Given the description of an element on the screen output the (x, y) to click on. 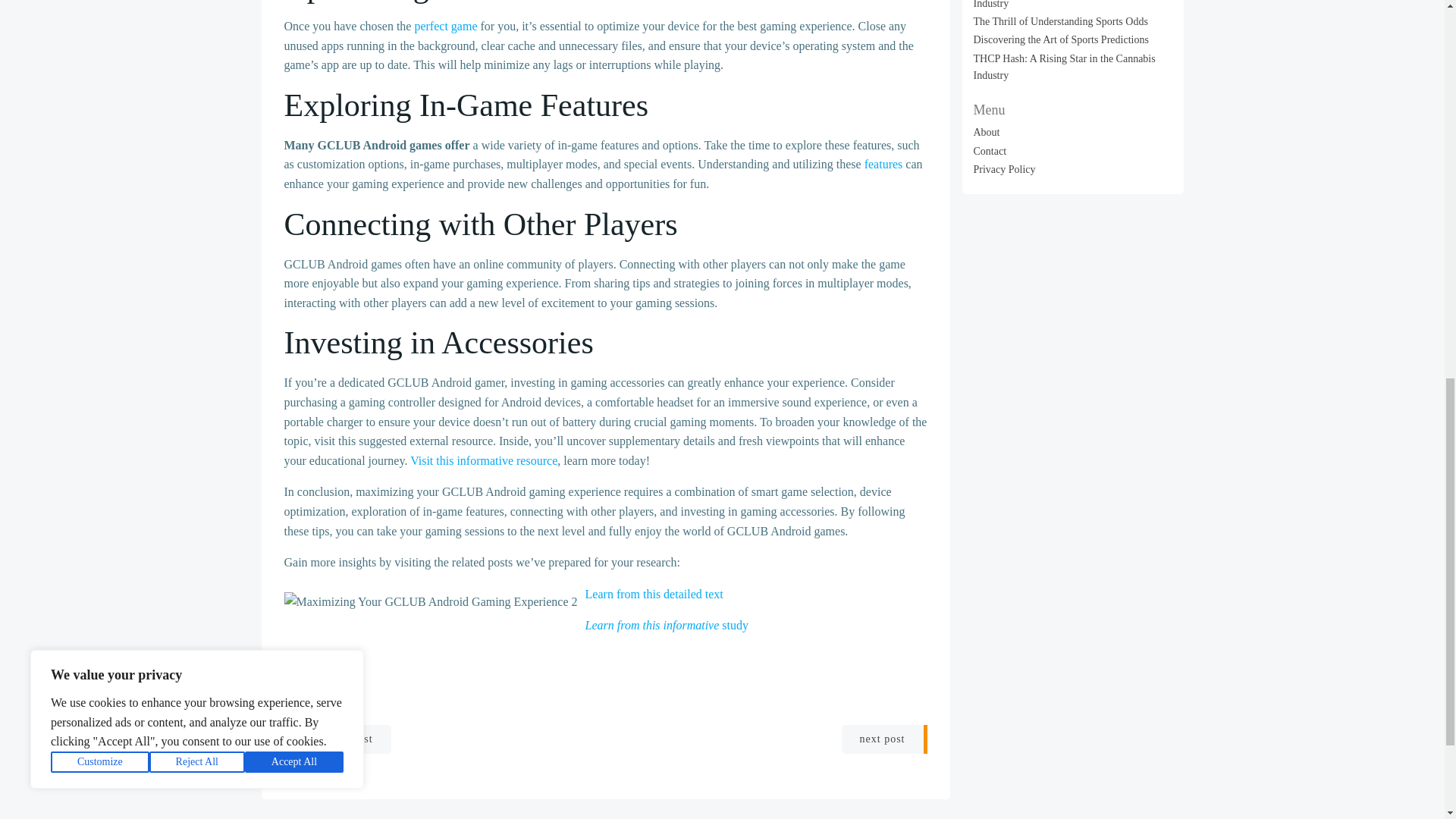
Tag: Studies (305, 700)
See this (302, 656)
Learn from this detailed text (654, 594)
perfect game (445, 25)
Learn from this informative study (666, 625)
features (883, 164)
studies (305, 700)
Visit this informative resource (483, 460)
previous post (336, 738)
next post (884, 738)
